Given the description of an element on the screen output the (x, y) to click on. 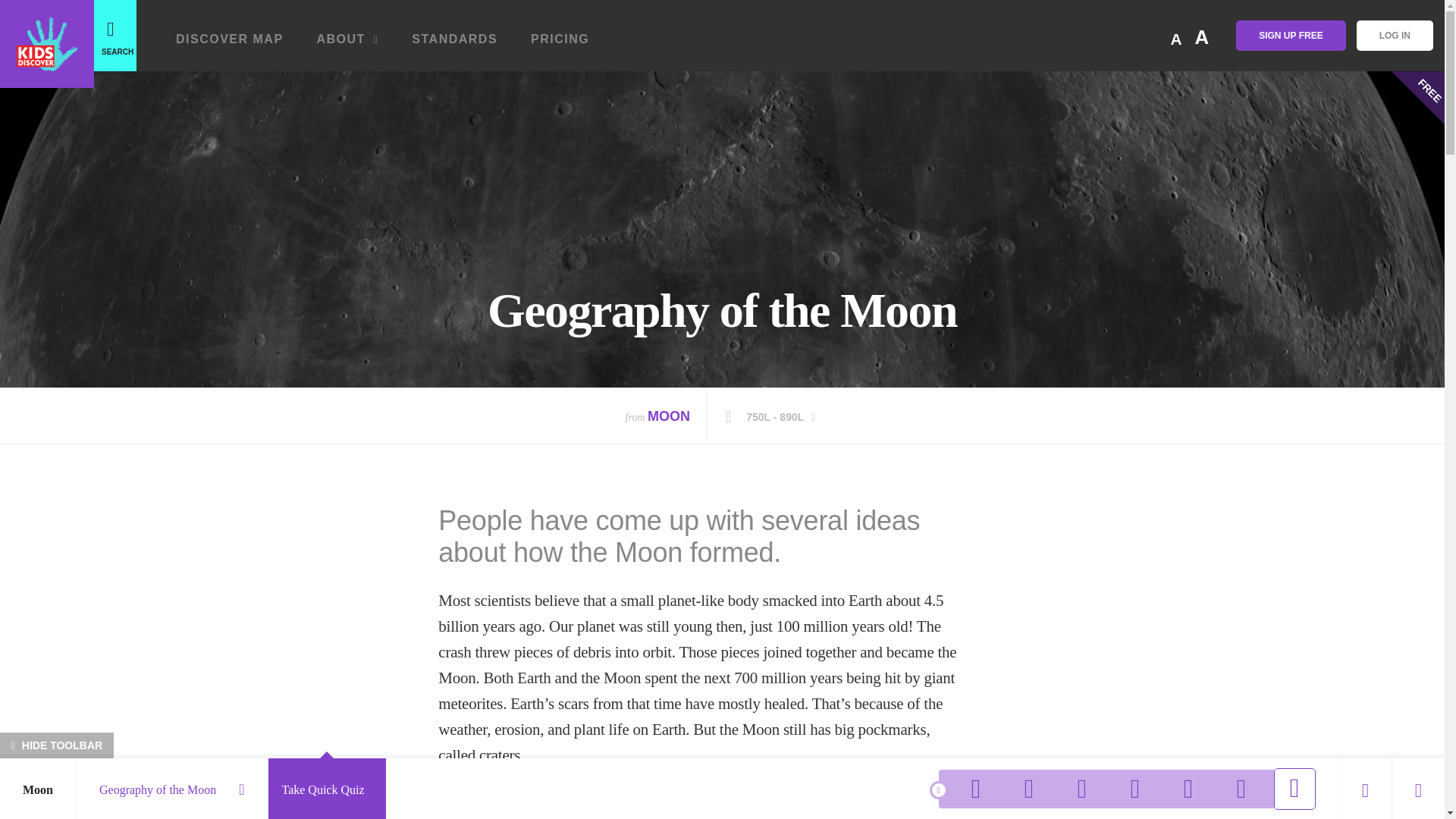
STANDARDS (454, 45)
MOON (668, 416)
SIGN UP FREE (1290, 35)
DISCOVER MAP (229, 45)
PRICING (560, 45)
LOG IN (1394, 35)
Home (47, 43)
